Given the description of an element on the screen output the (x, y) to click on. 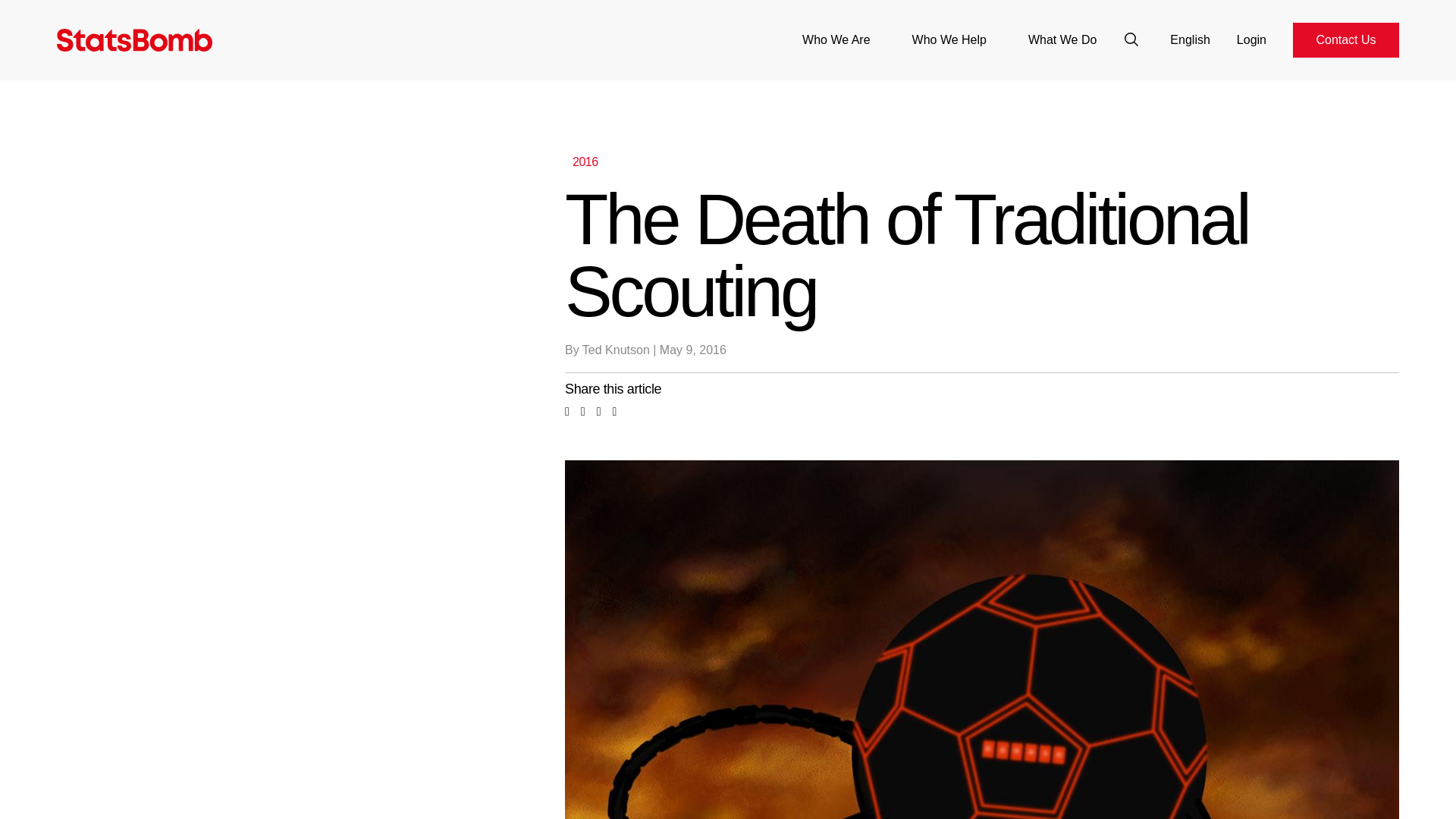
Login (1251, 39)
Who We Are (836, 39)
Who We Help (949, 39)
What We Do (1061, 39)
Contact Us (1345, 39)
